Given the description of an element on the screen output the (x, y) to click on. 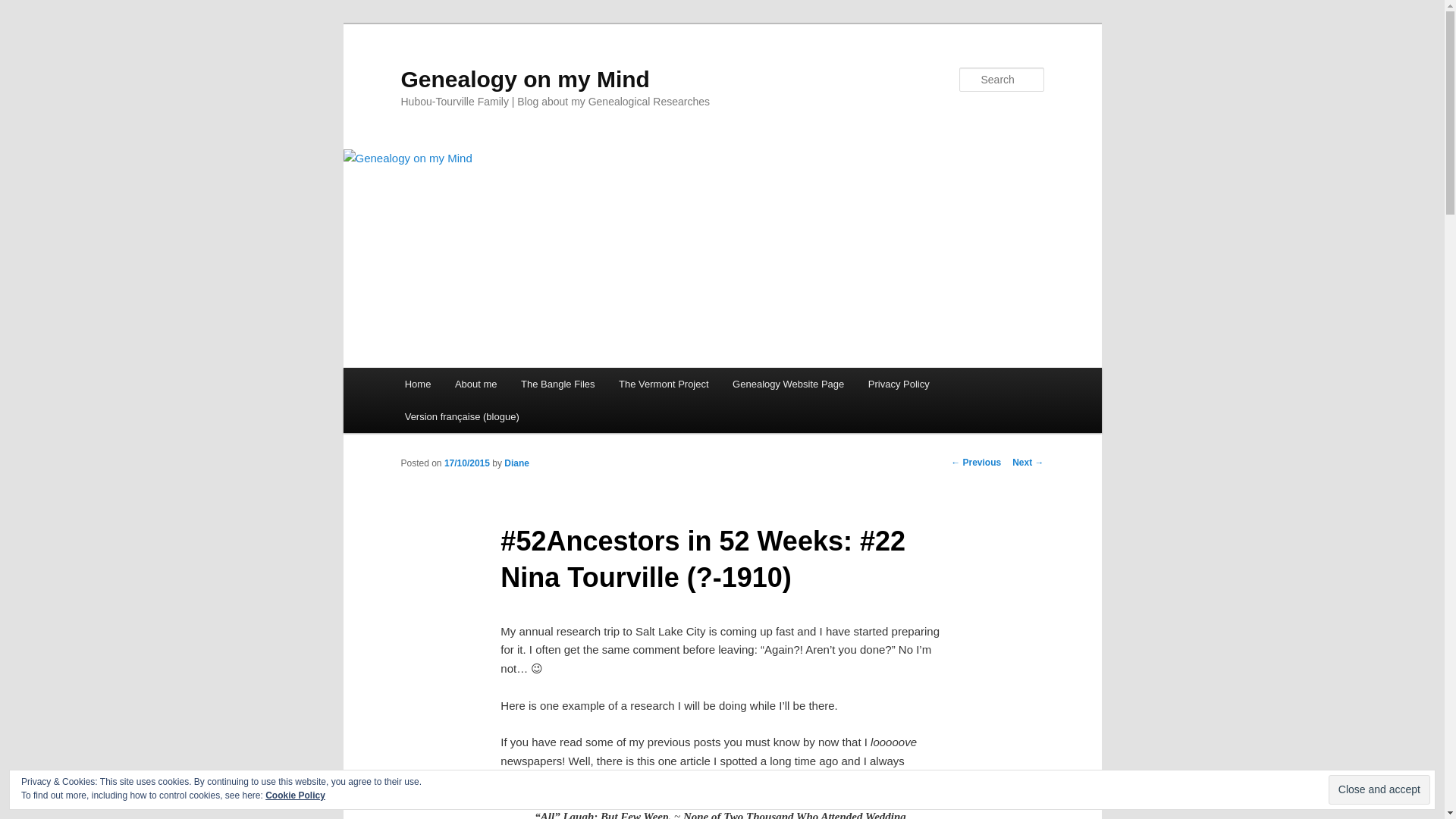
The Vermont Project (663, 383)
View all posts by Diane (516, 462)
Close and accept (1378, 789)
About me (475, 383)
Search (24, 8)
Cookie Policy (294, 795)
Diane (516, 462)
Genealogy on my Mind (524, 78)
Genealogy Website Page (788, 383)
